Given the description of an element on the screen output the (x, y) to click on. 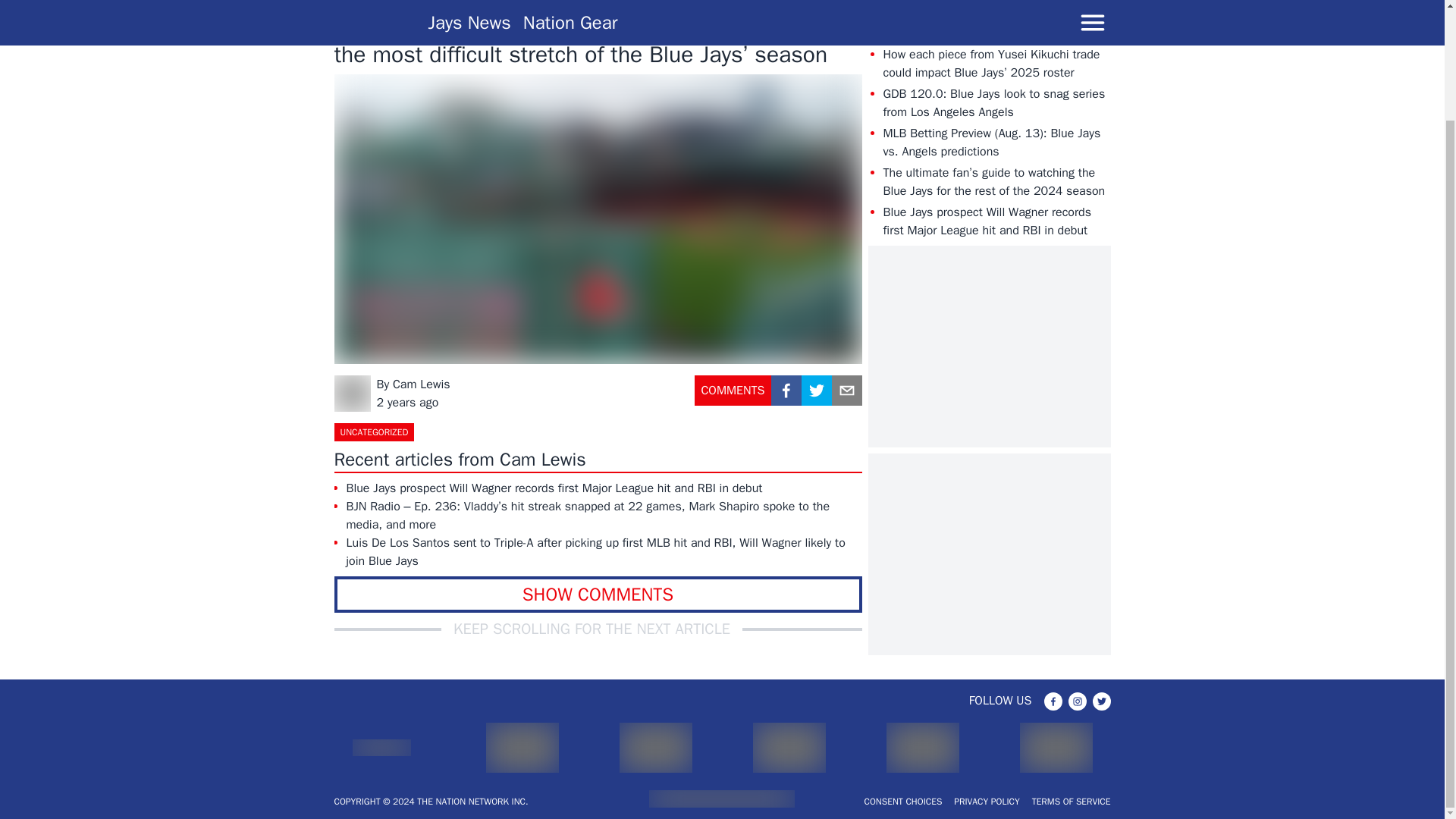
SHOW COMMENTS (597, 594)
Cam Lewis (421, 384)
UNCATEGORIZED (373, 432)
COMMENTS (732, 395)
SHOW COMMENTS (597, 594)
